Given the description of an element on the screen output the (x, y) to click on. 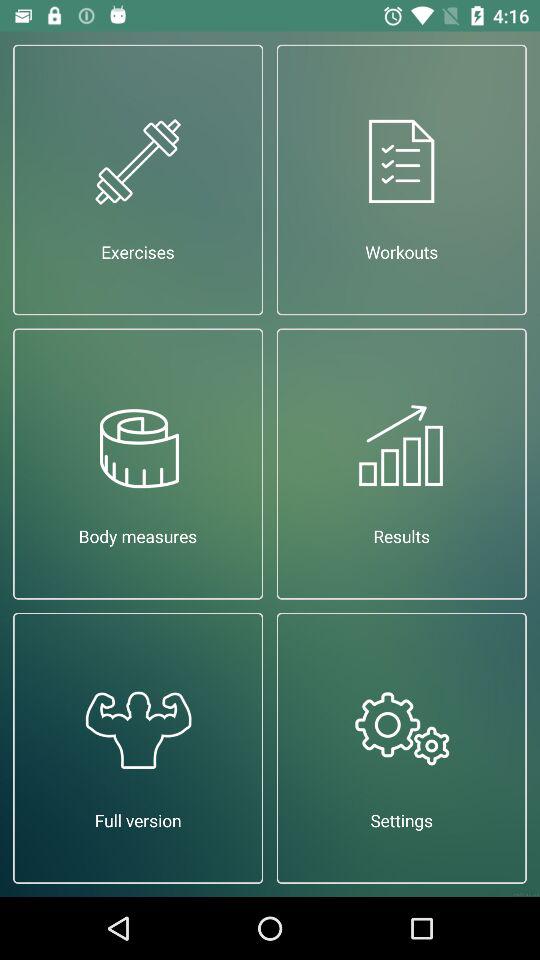
select icon next to the full version (401, 748)
